Given the description of an element on the screen output the (x, y) to click on. 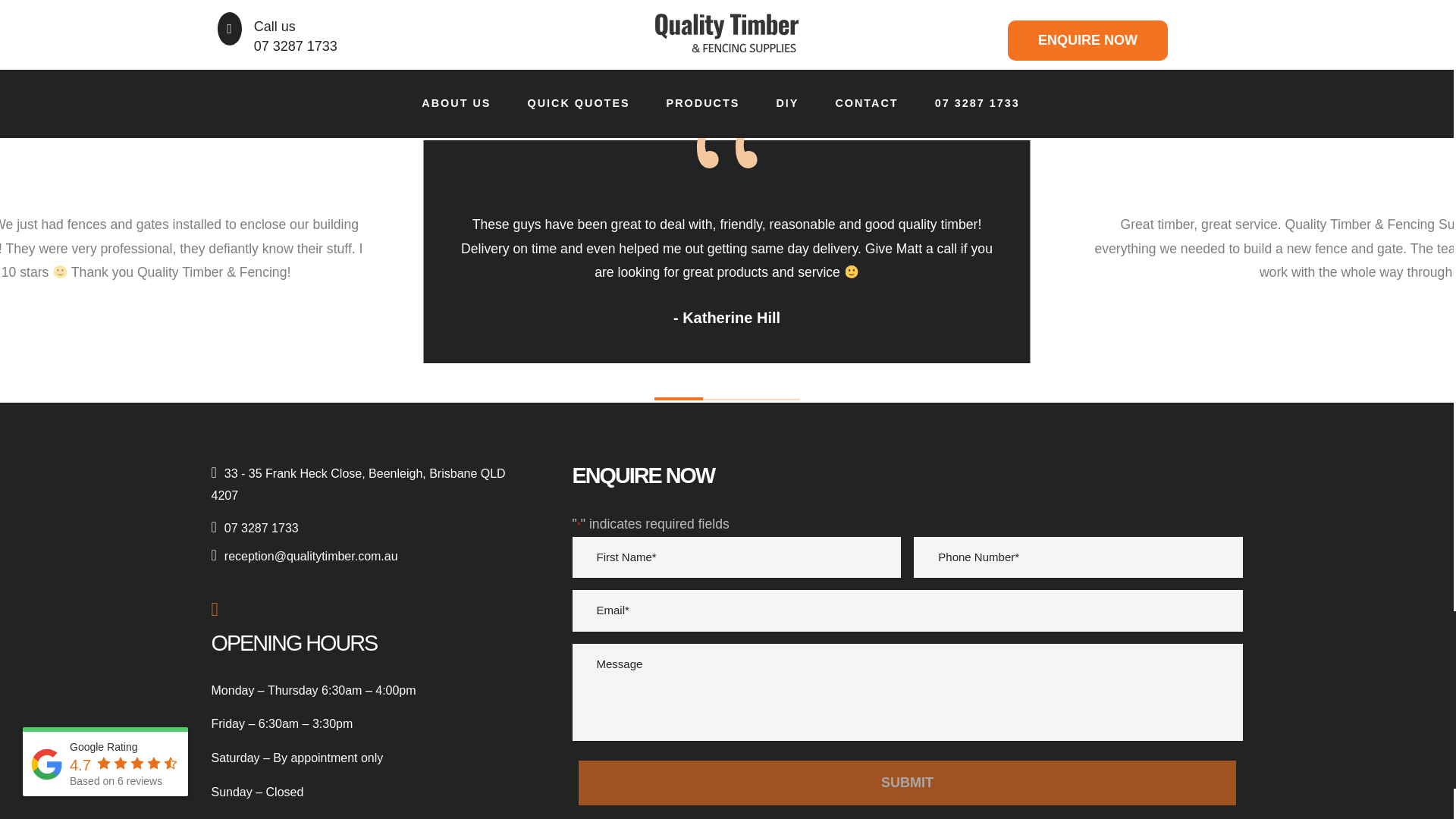
07 3287 1733 (365, 527)
Submit (906, 782)
Submit (906, 782)
